Given the description of an element on the screen output the (x, y) to click on. 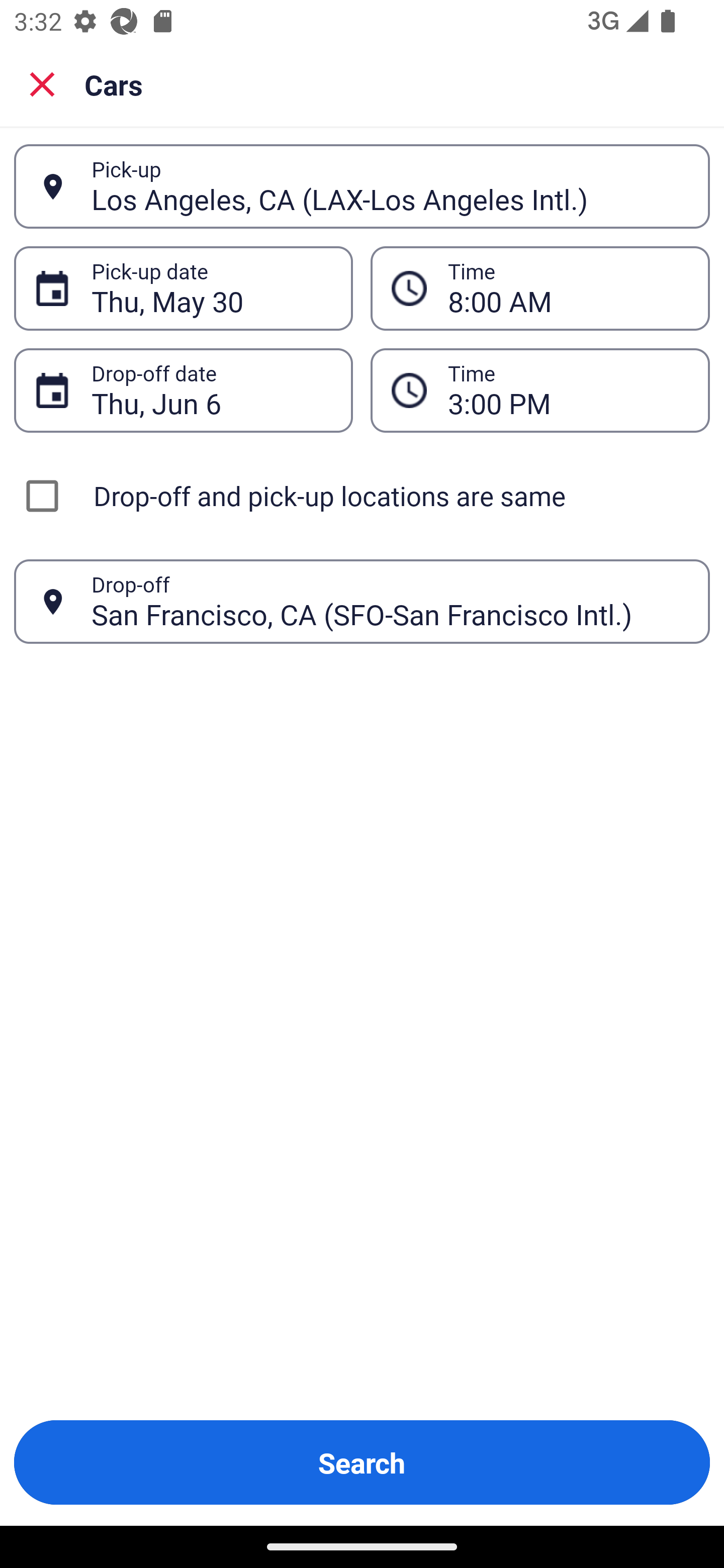
Close search screen (41, 83)
Los Angeles, CA (LAX-Los Angeles Intl.) Pick-up (361, 186)
Los Angeles, CA (LAX-Los Angeles Intl.) (389, 186)
Thu, May 30 Pick-up date (183, 288)
8:00 AM (540, 288)
Thu, May 30 (211, 288)
8:00 AM (568, 288)
Thu, Jun 6 Drop-off date (183, 390)
3:00 PM (540, 390)
Thu, Jun 6 (211, 390)
3:00 PM (568, 390)
Drop-off and pick-up locations are same (361, 495)
San Francisco, CA (SFO-San Francisco Intl.) (389, 601)
Search Button Search (361, 1462)
